Given the description of an element on the screen output the (x, y) to click on. 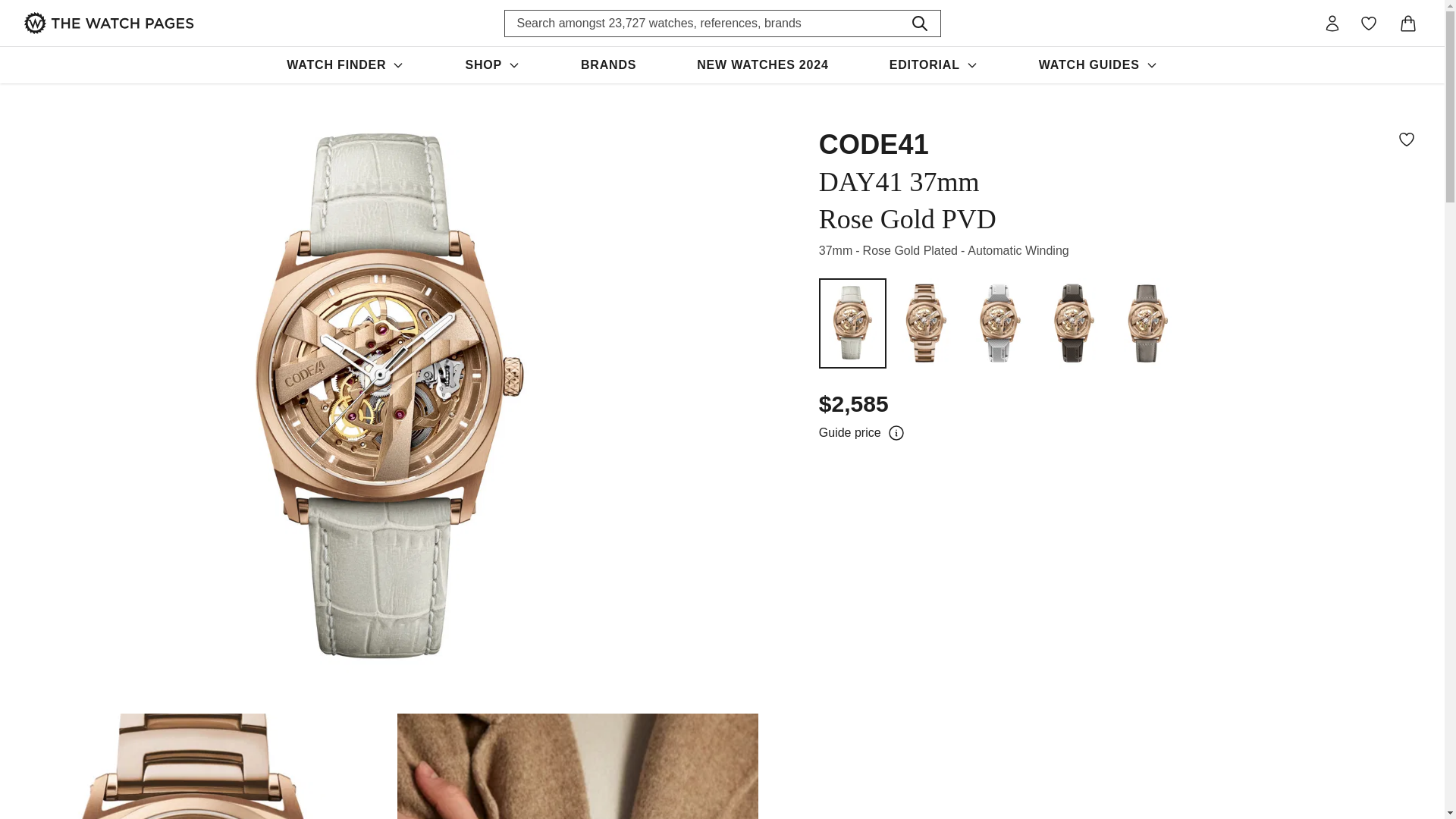
WATCH FINDER (344, 64)
